Given the description of an element on the screen output the (x, y) to click on. 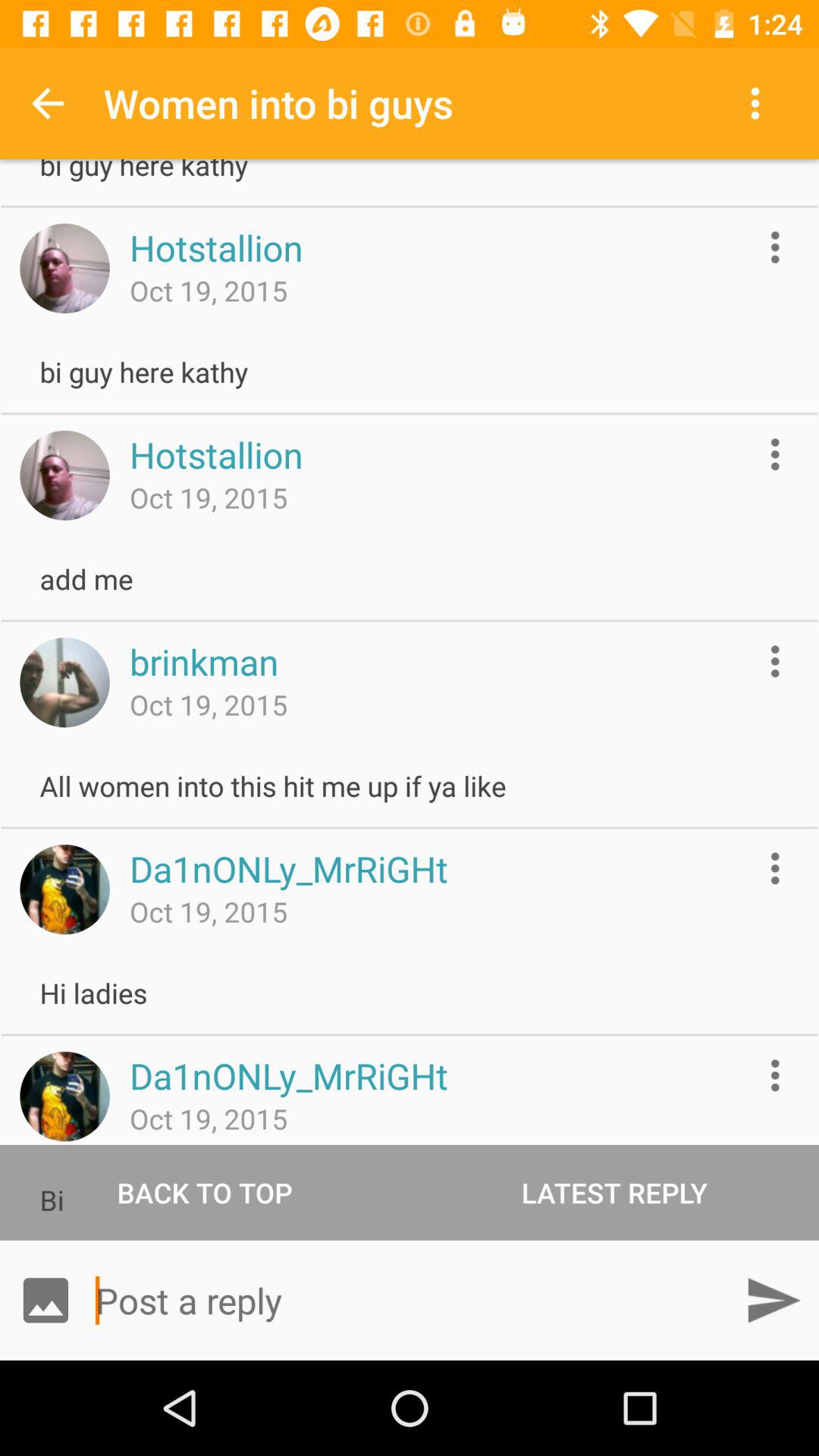
profile setting option (775, 247)
